Given the description of an element on the screen output the (x, y) to click on. 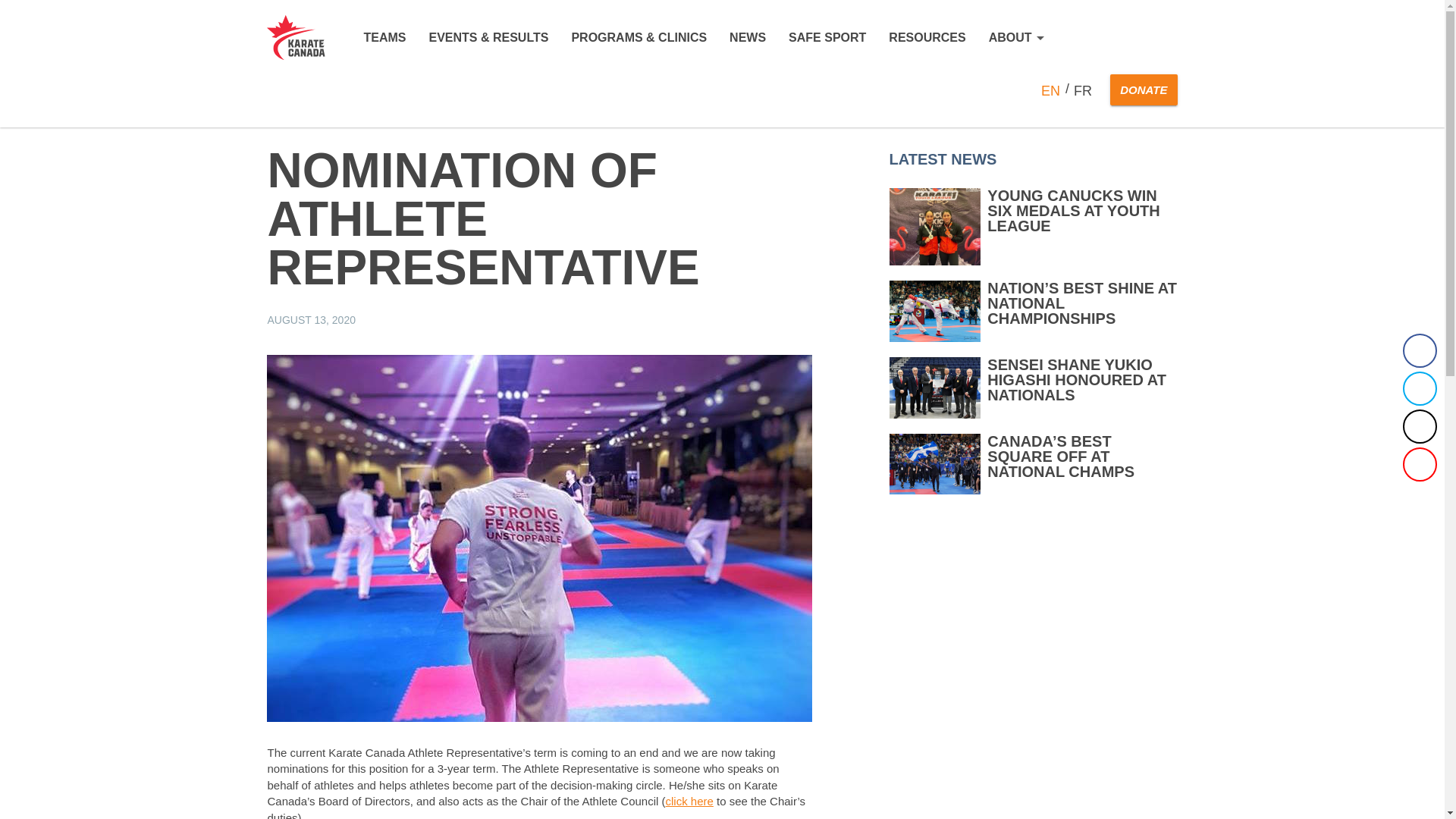
NEWS (747, 38)
ABOUT (1015, 38)
SAFE SPORT (827, 38)
TEAMS (384, 38)
RESOURCES (926, 38)
